Given the description of an element on the screen output the (x, y) to click on. 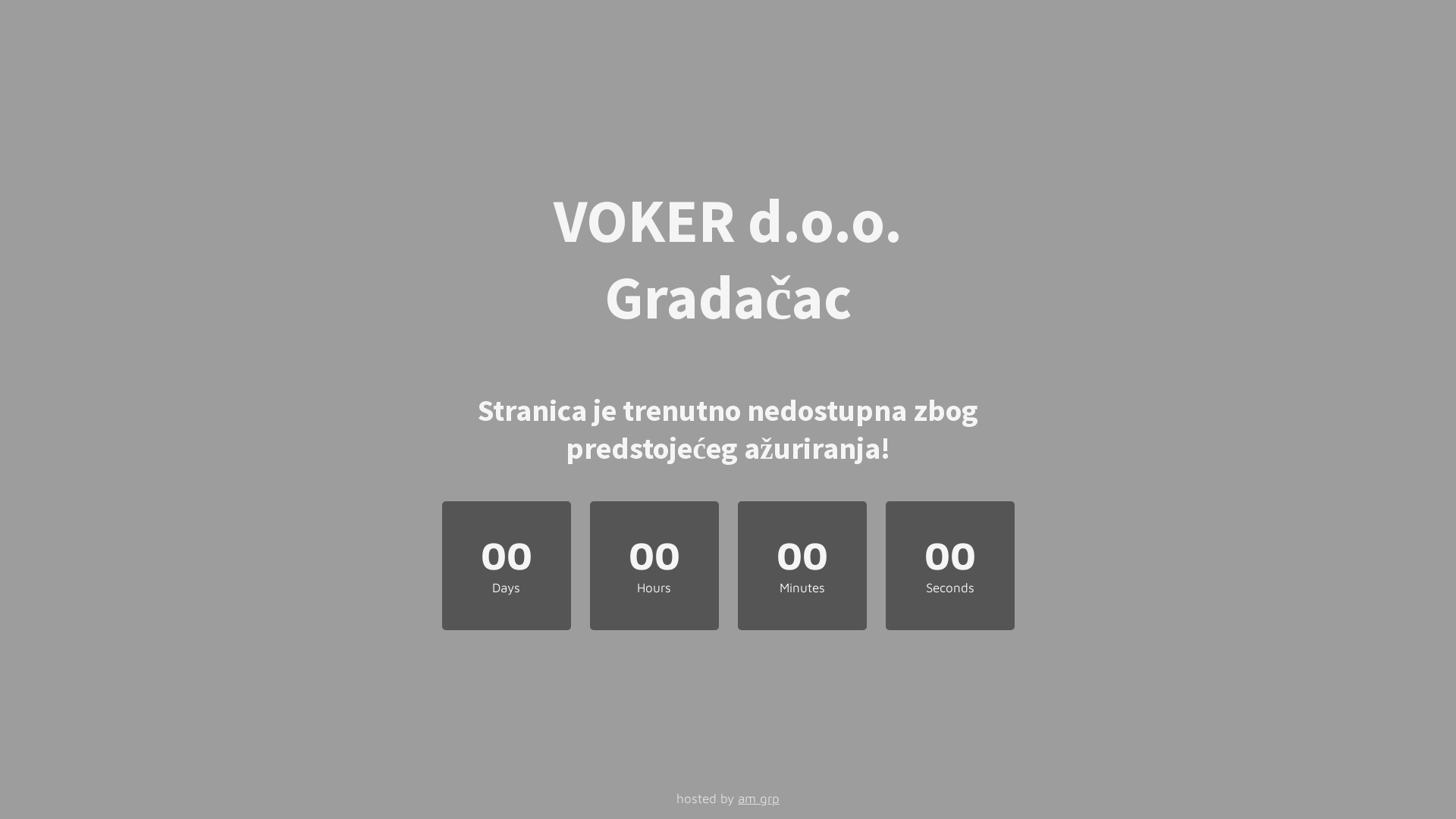
am grp Element type: text (758, 798)
